Given the description of an element on the screen output the (x, y) to click on. 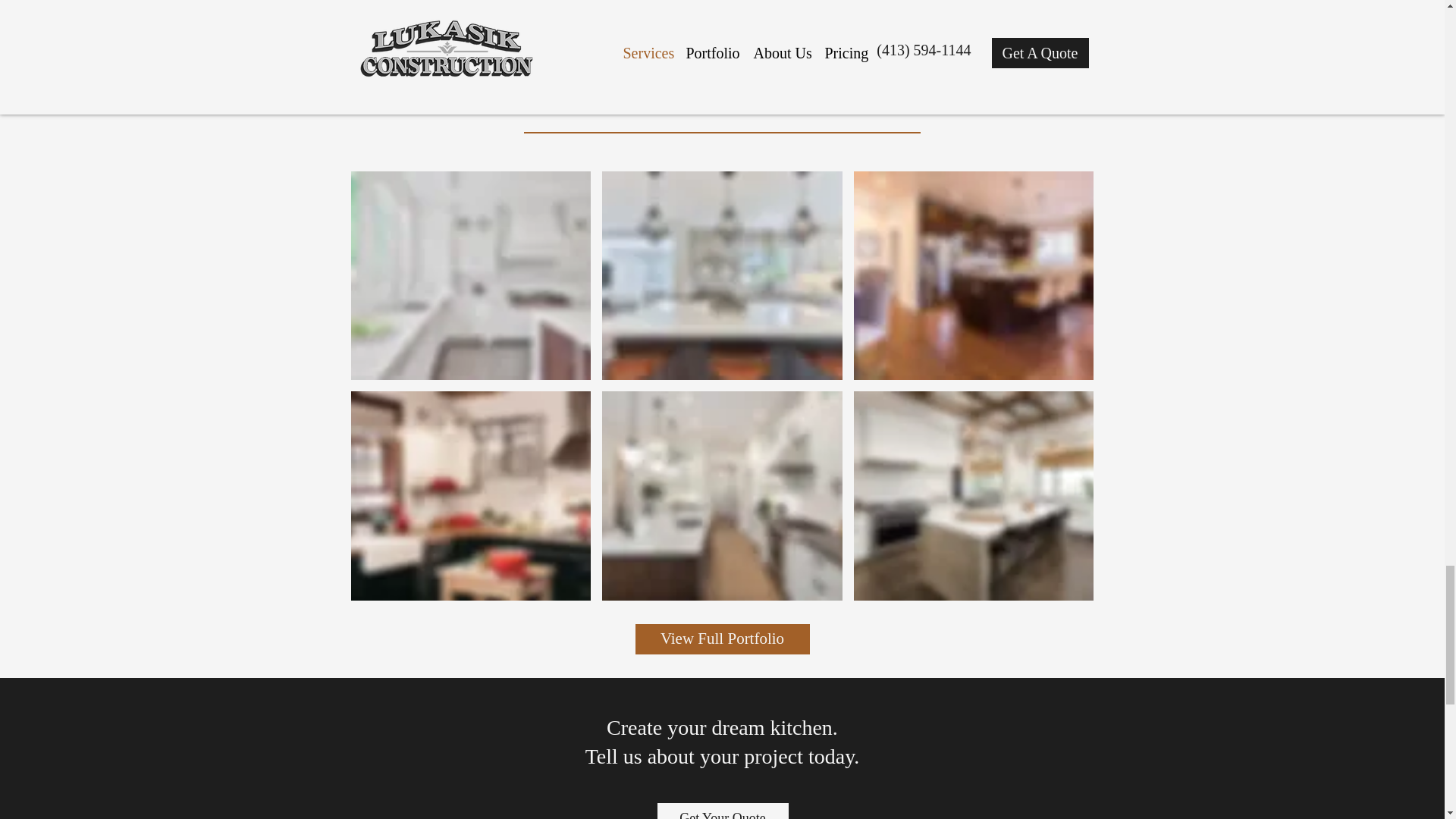
Get Your Quote (721, 811)
View Full Portfolio (721, 639)
